Given the description of an element on the screen output the (x, y) to click on. 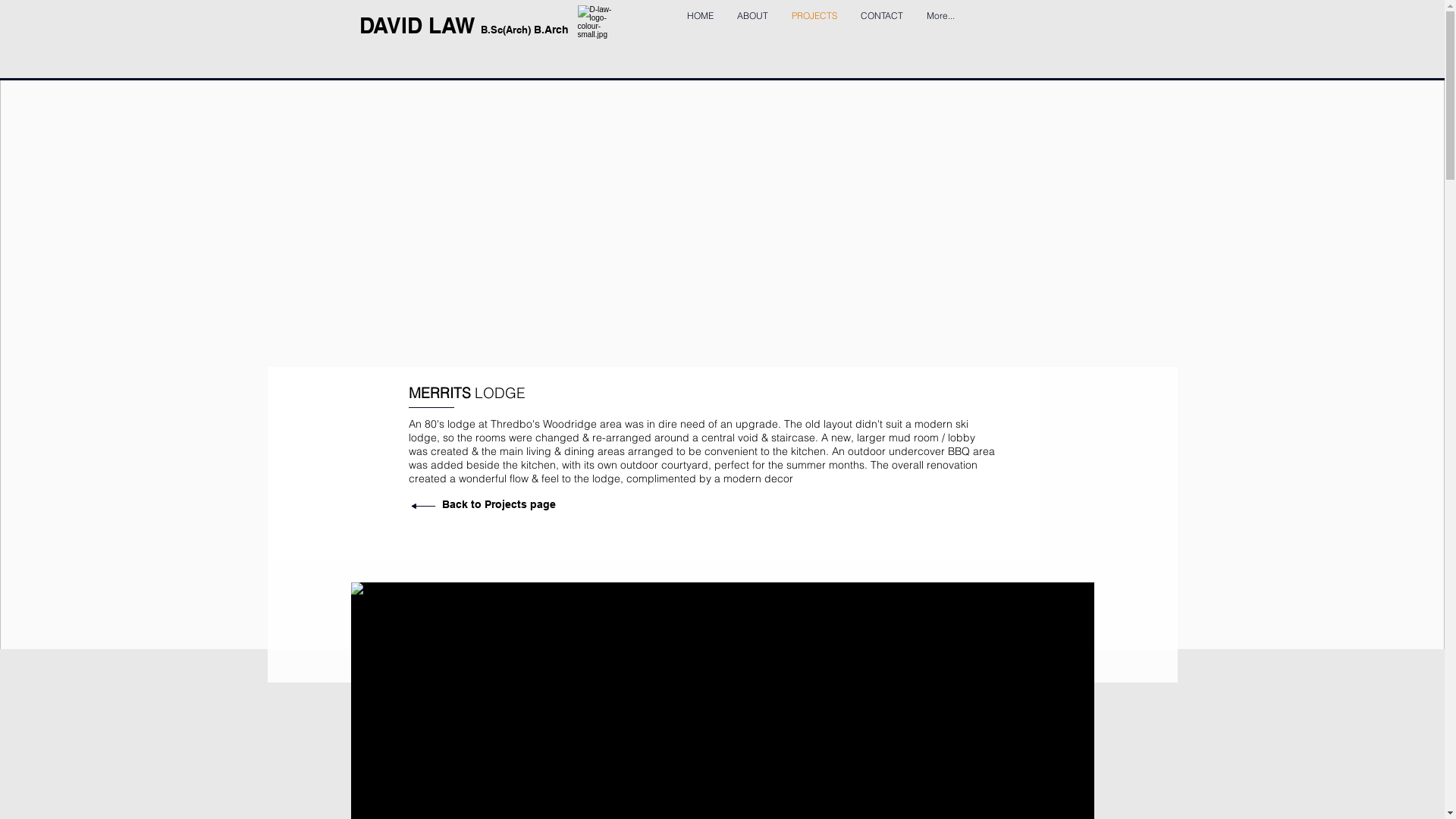
B.Arch Element type: text (550, 29)
ABOUT Element type: text (752, 24)
DAVID LAW Element type: text (419, 24)
CONTACT Element type: text (881, 24)
PROJECTS Element type: text (814, 24)
HOME Element type: text (699, 24)
B.Sc(Arch) Element type: text (506, 29)
Back to Projects page Element type: text (498, 504)
